Given the description of an element on the screen output the (x, y) to click on. 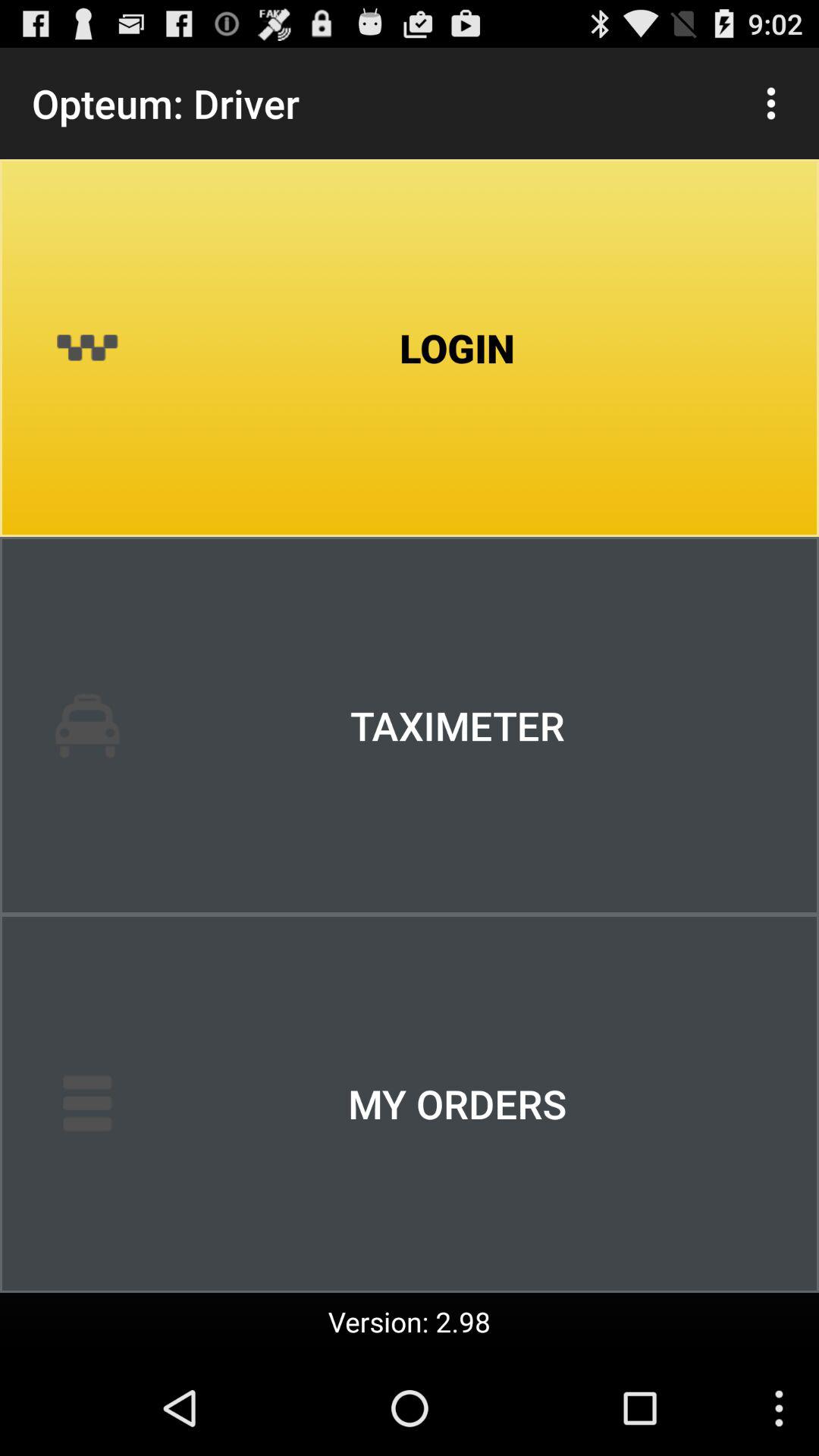
tap item next to the opteum: driver app (771, 103)
